Given the description of an element on the screen output the (x, y) to click on. 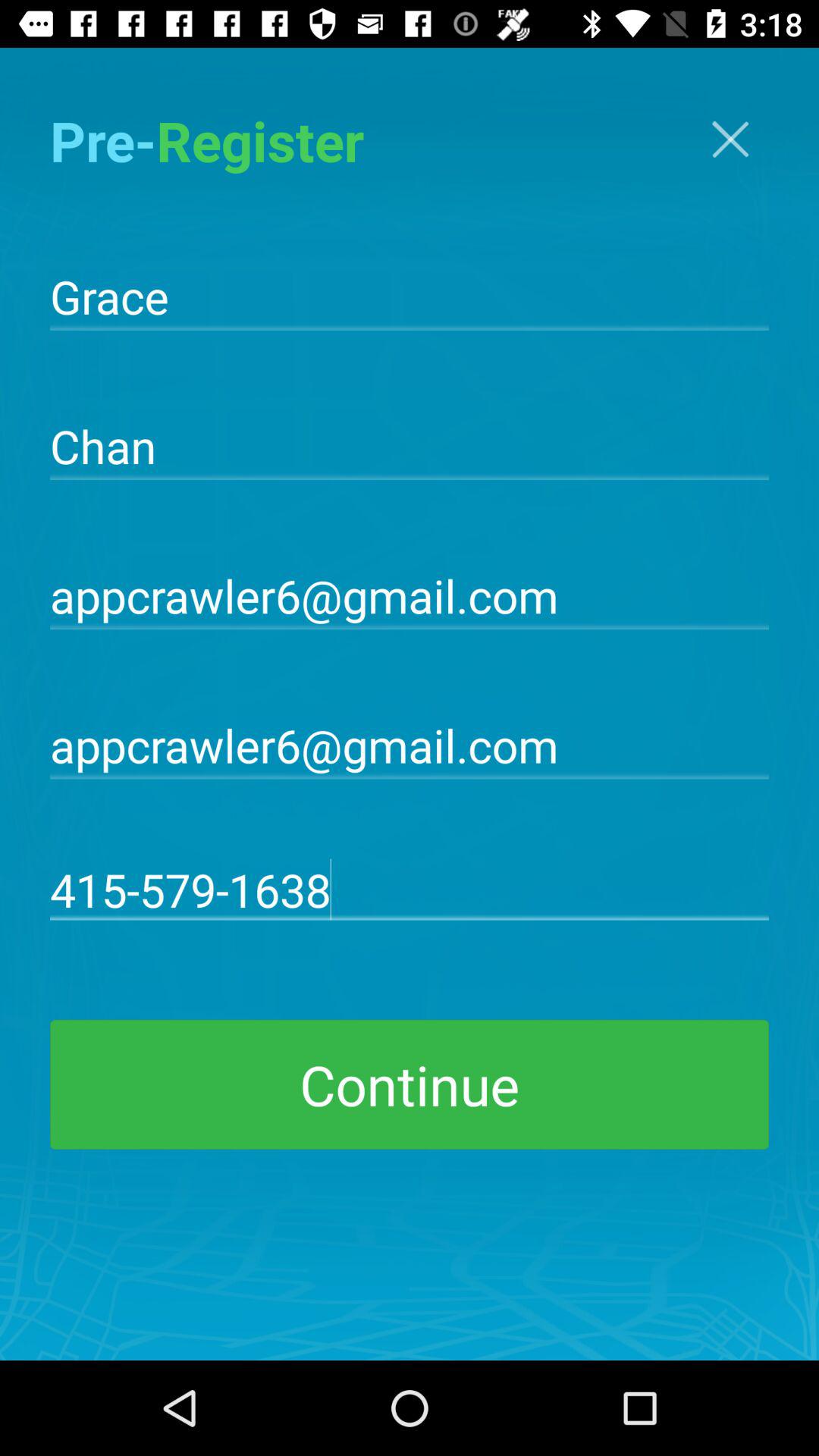
click item below pre-register (409, 295)
